Given the description of an element on the screen output the (x, y) to click on. 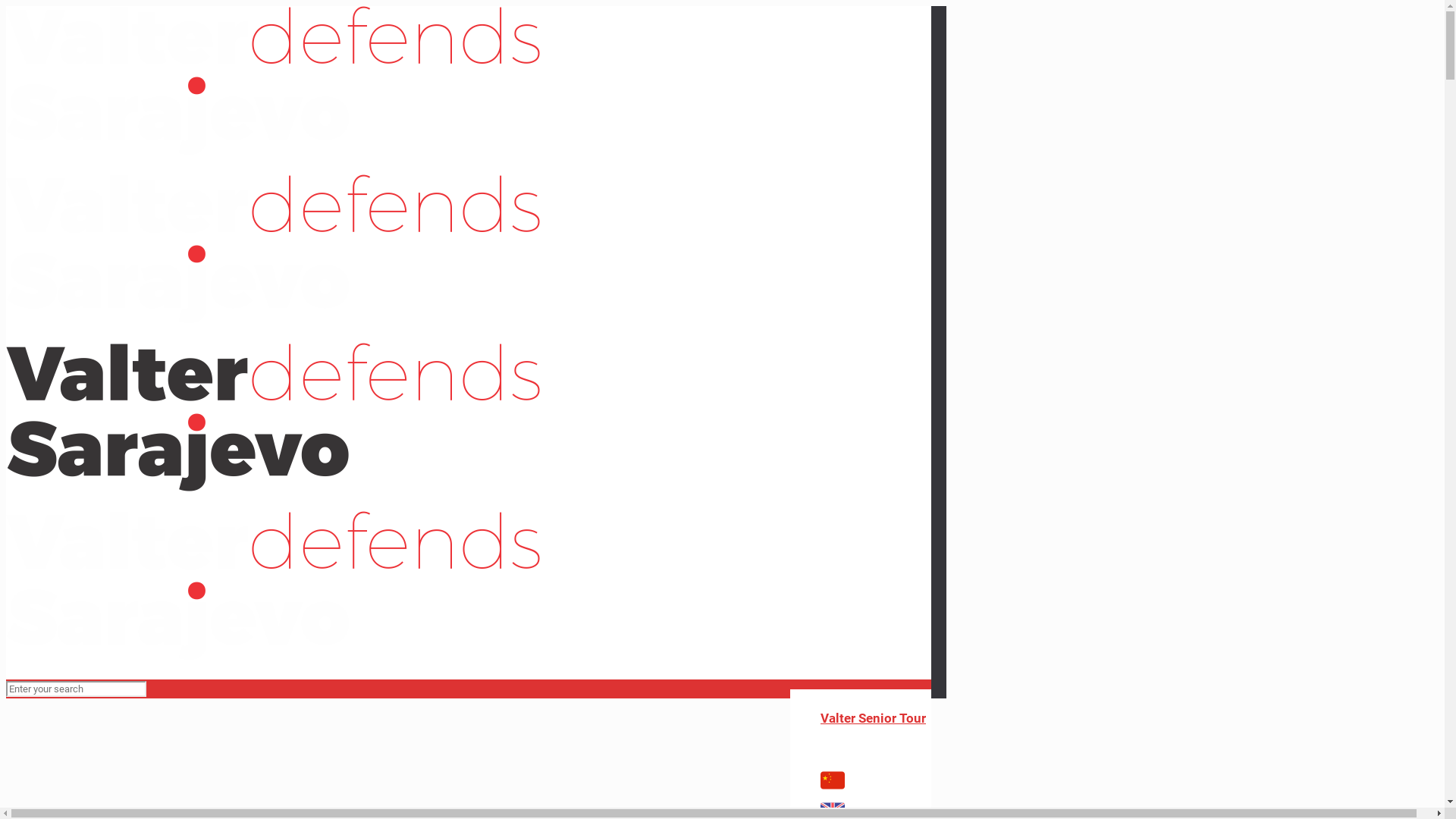
"Valter Defends Sarajevo" Element type: hover (272, 403)
Valter Junior Tour Element type: text (873, 737)
Valter Senior Tour Element type: text (872, 718)
Valter Special Tour Element type: text (875, 698)
